Given the description of an element on the screen output the (x, y) to click on. 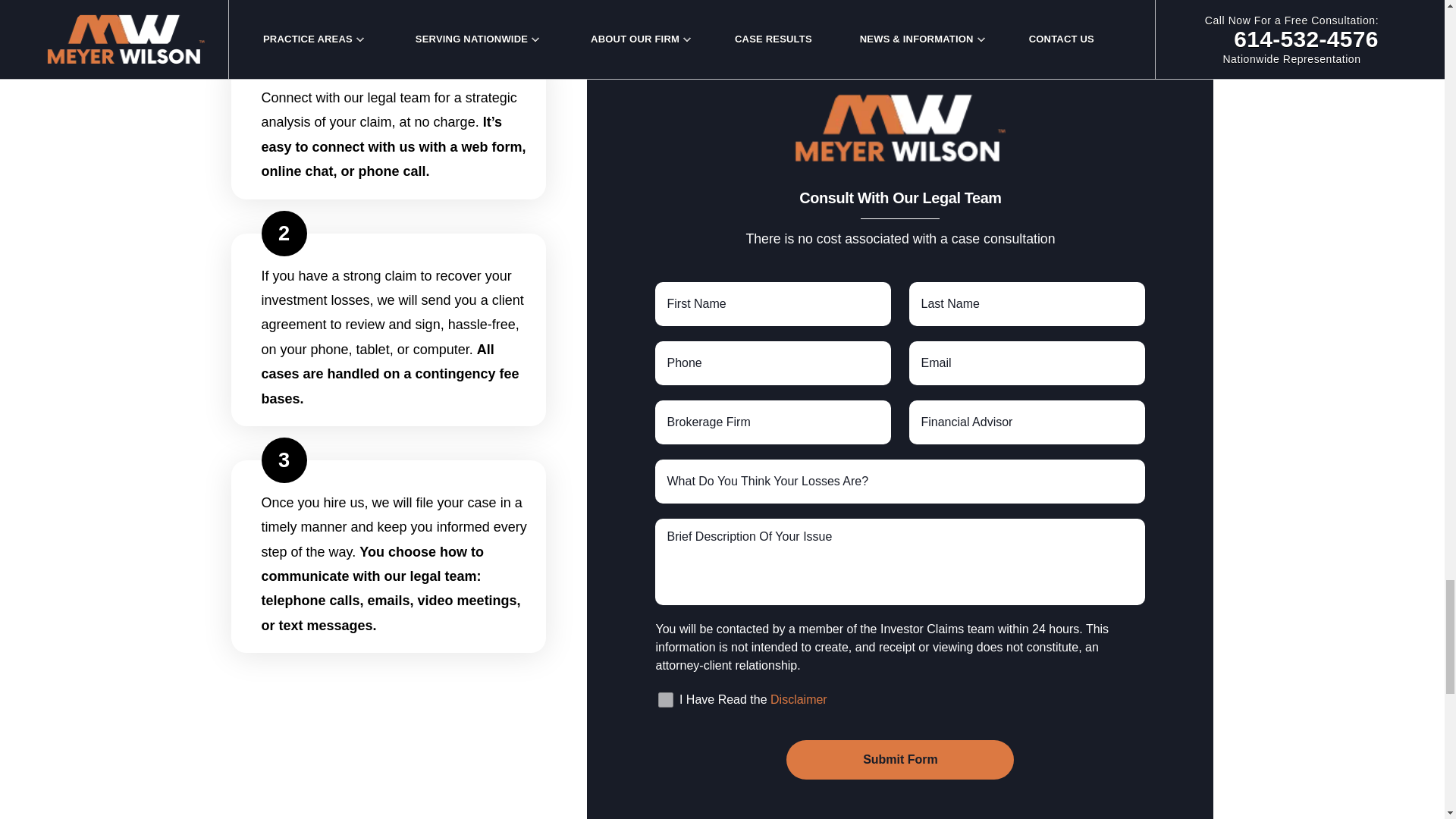
1 (665, 699)
Submit Form (899, 759)
